Given the description of an element on the screen output the (x, y) to click on. 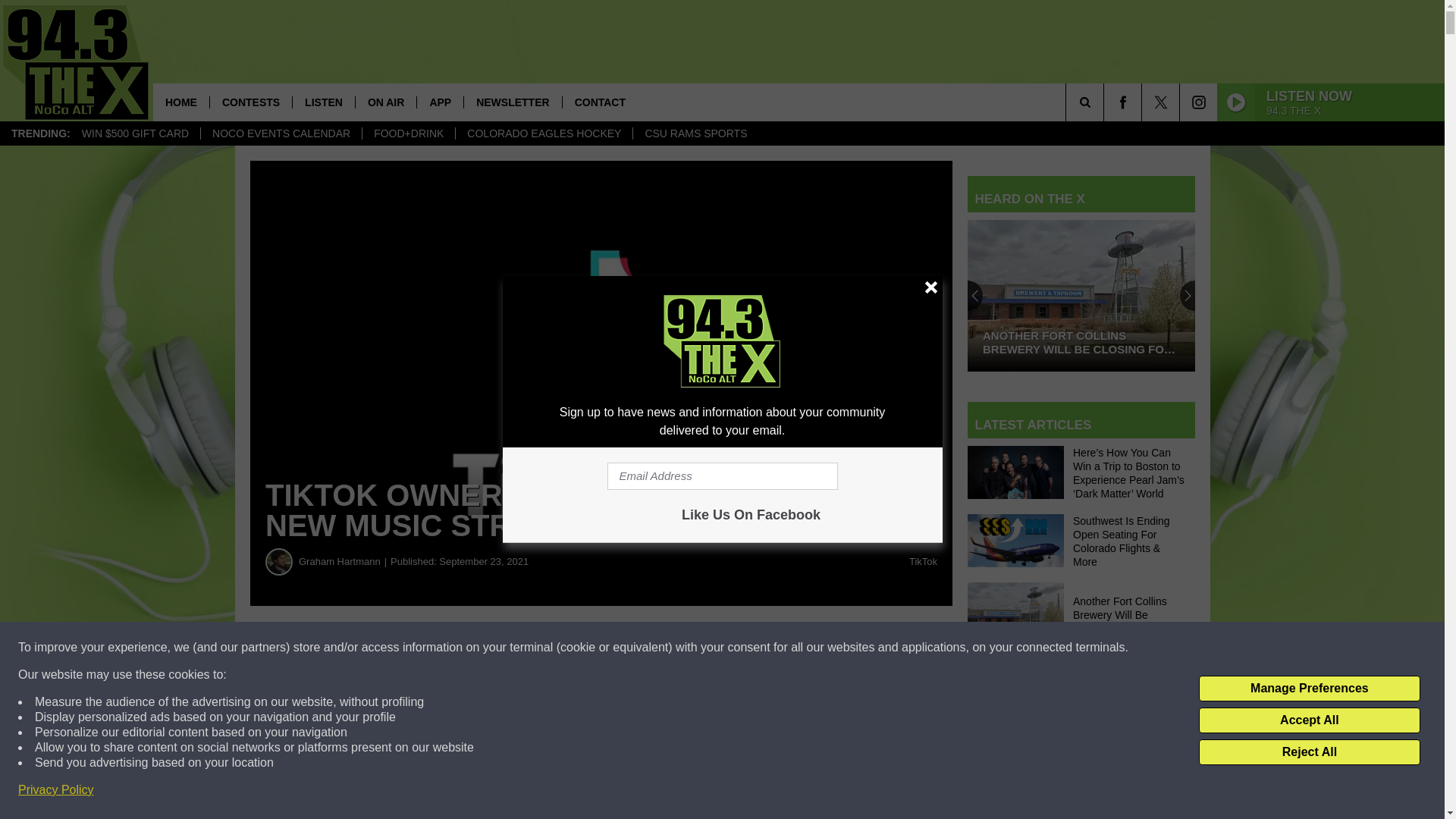
CONTESTS (250, 102)
COLORADO EAGLES HOCKEY (542, 133)
CONTACT (599, 102)
LISTEN (323, 102)
Share on Twitter (741, 647)
ON AIR (385, 102)
Accept All (1309, 720)
Manage Preferences (1309, 688)
NEWSLETTER (511, 102)
SEARCH (1106, 102)
Share on Facebook (460, 647)
Reject All (1309, 751)
HOME (180, 102)
CSU RAMS SPORTS (694, 133)
SEARCH (1106, 102)
